Given the description of an element on the screen output the (x, y) to click on. 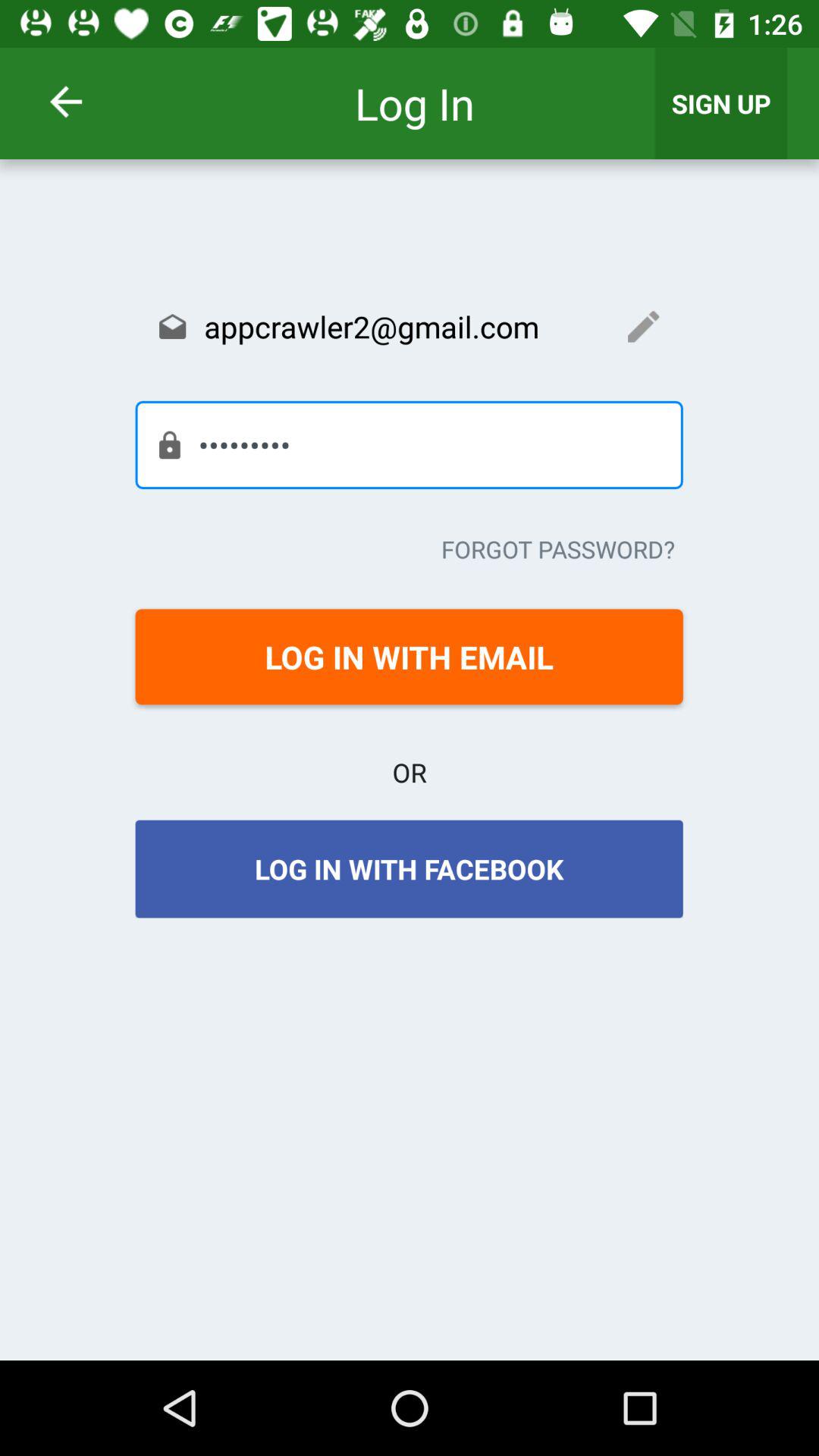
open item next to the sign up icon (85, 101)
